Given the description of an element on the screen output the (x, y) to click on. 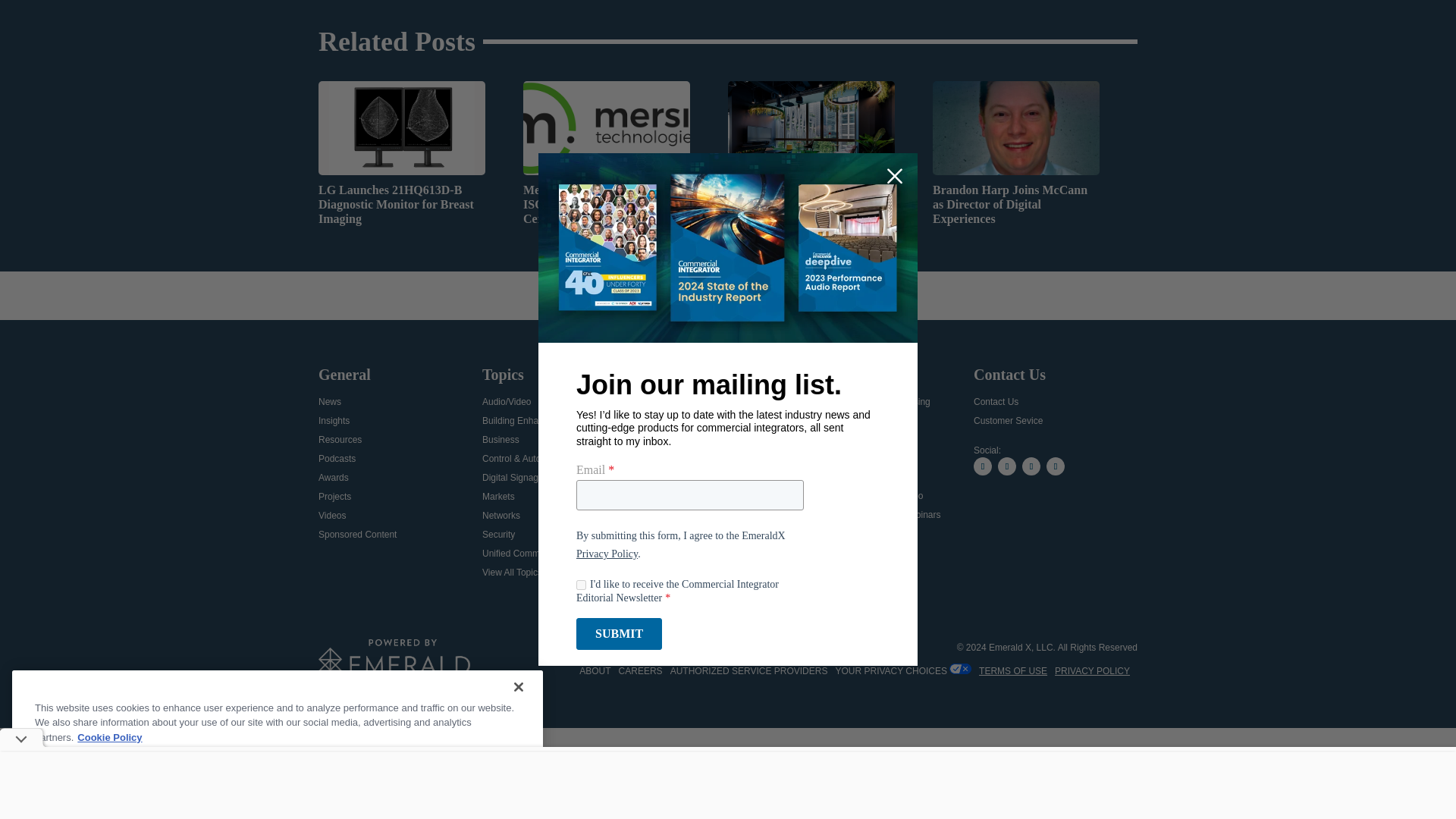
Follow on Facebook (1006, 466)
Follow on X (982, 466)
Follow on LinkedIn (1031, 466)
Follow on Youtube (1055, 466)
